Given the description of an element on the screen output the (x, y) to click on. 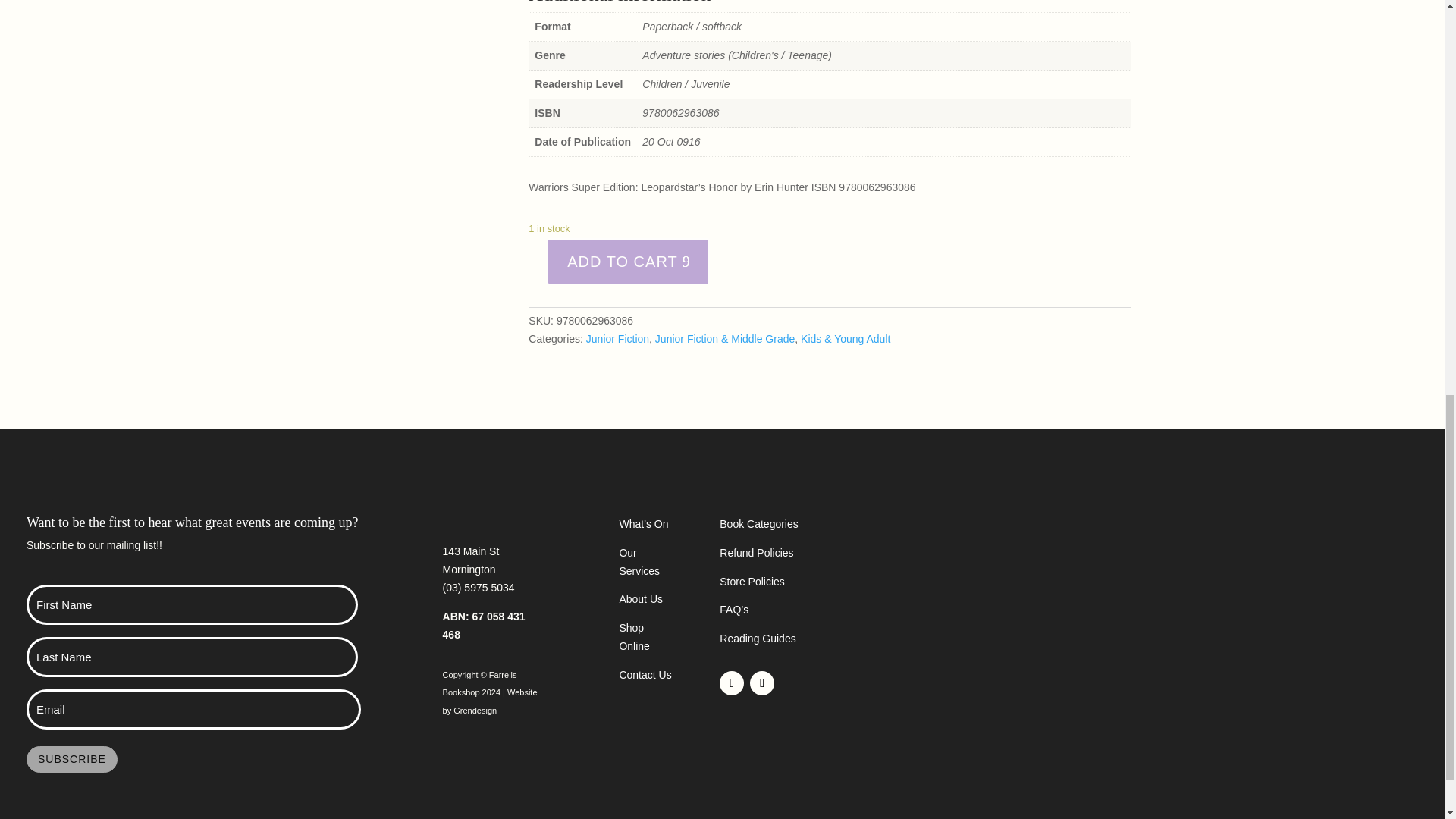
Shop Online (633, 636)
Subscribe (71, 759)
Subscribe (71, 759)
About Us (640, 598)
Follow on Facebook (731, 682)
Our Services (638, 562)
Junior Fiction (617, 338)
ADD TO CART (628, 261)
Follow on Instagram (761, 682)
